Given the description of an element on the screen output the (x, y) to click on. 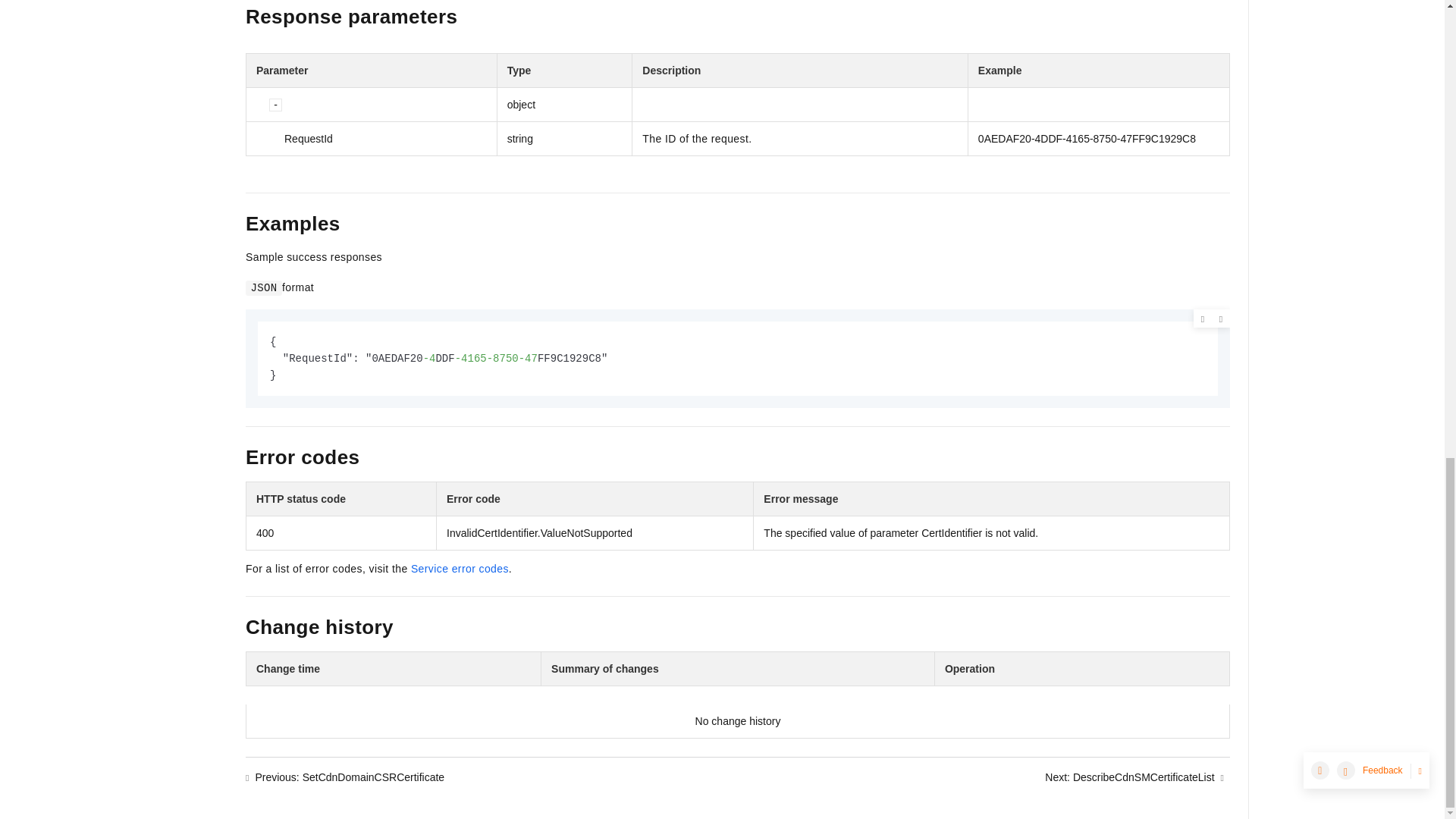
DescribeCdnSSLCertificateList (117, 346)
DescribeCdnCertificateDetail (117, 258)
Log management (117, 4)
DescribeCdnCertificateList (117, 302)
Certificate management (117, 47)
Service management (117, 22)
DescribeCdnDomainByCertificate (117, 170)
Copy Code (1220, 319)
BatchSetCdnDomainServerCertificate (117, 126)
DescribeDomainCertificateInfo (117, 214)
SetDomainServerCertificate (117, 82)
Change code theme (1202, 319)
